Given the description of an element on the screen output the (x, y) to click on. 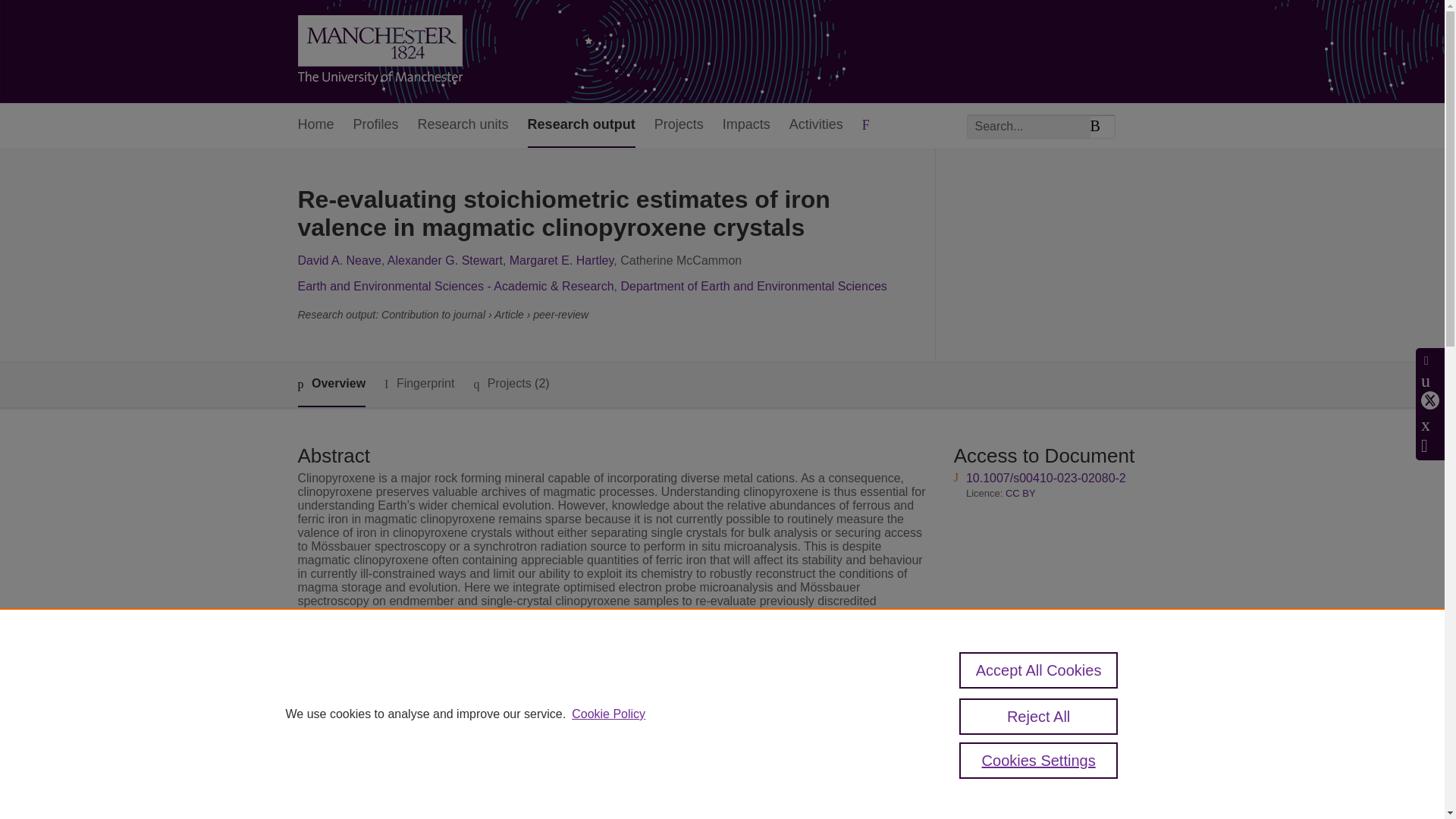
Research output (580, 125)
CC BY (1020, 492)
David A. Neave (338, 259)
Alexander G. Stewart (444, 259)
Activities (816, 125)
Contributions to Mineralogy and Petrology (619, 771)
Profiles (375, 125)
Research Explorer The University of Manchester Home (379, 51)
Overview (331, 384)
Fingerprint (419, 383)
Impacts (746, 125)
Margaret E. Hartley (561, 259)
Projects (678, 125)
Department of Earth and Environmental Sciences (753, 286)
